Given the description of an element on the screen output the (x, y) to click on. 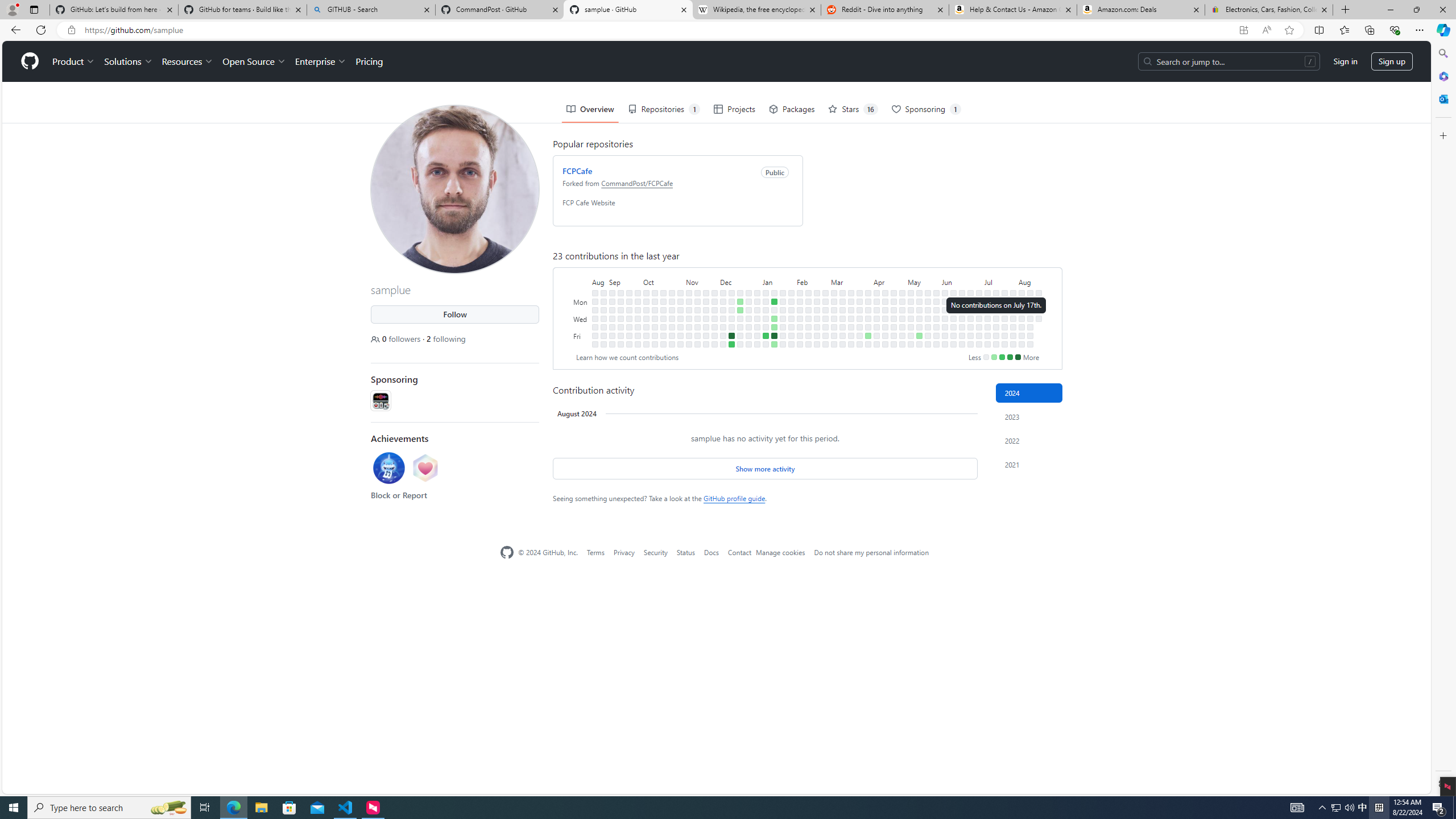
No contributions on January 11th. (765, 326)
No contributions on April 11th. (876, 326)
August (1030, 280)
No contributions on March 17th. (850, 292)
No contributions on January 29th. (790, 301)
Do not share my personal information (870, 552)
No contributions on December 7th. (723, 326)
No contributions on October 17th. (663, 309)
No contributions on April 28th. (902, 292)
No contributions on January 1st. (757, 301)
March (850, 280)
No contributions on April 18th. (885, 326)
No contributions on June 29th. (970, 343)
No contributions on November 29th. (714, 318)
No contributions on April 27th. (893, 343)
